Given the description of an element on the screen output the (x, y) to click on. 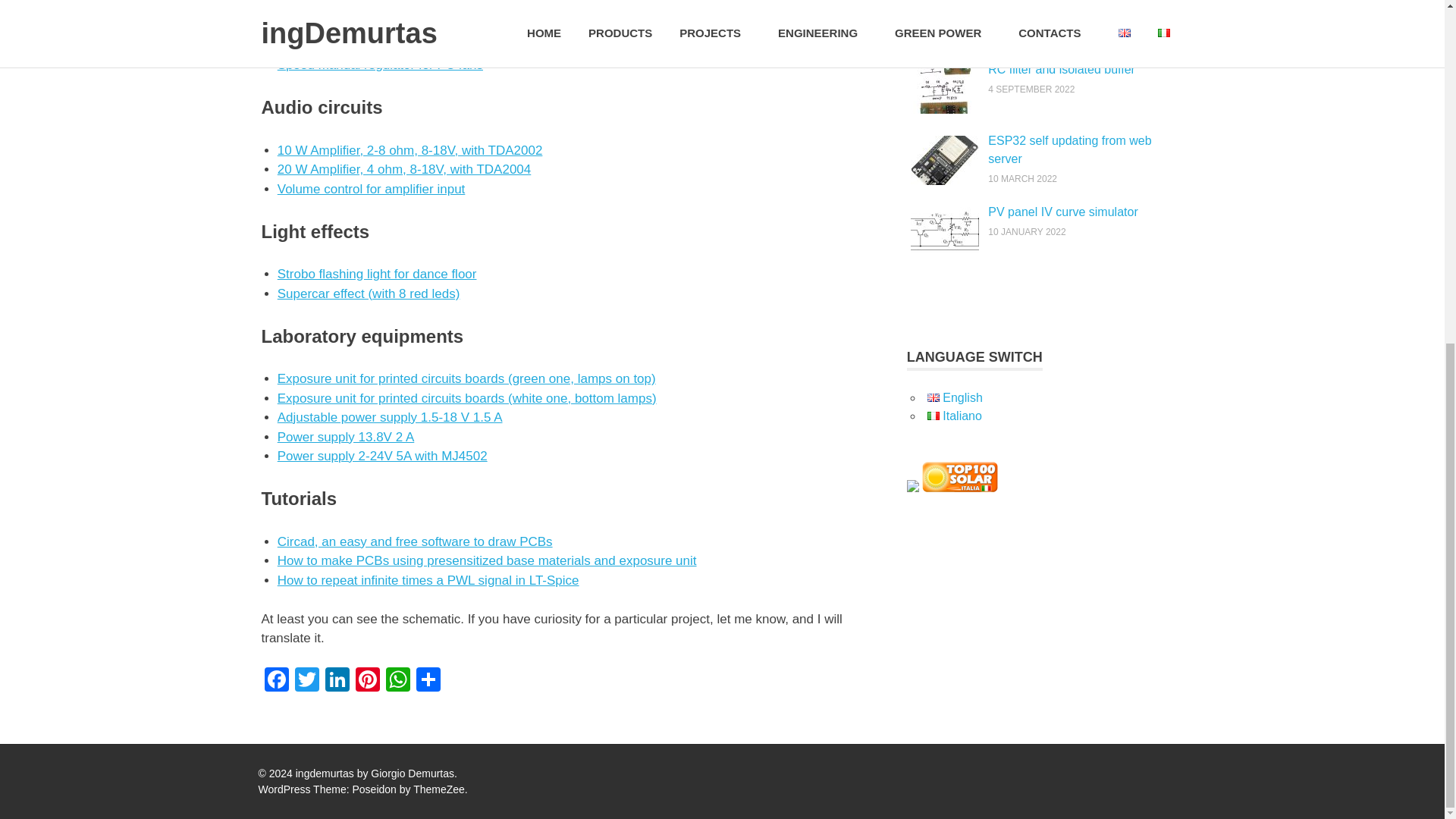
Energy value of several fuels (1065, 2)
Facebook (275, 681)
Twitter (306, 681)
LinkedIn (336, 681)
WhatsApp (396, 681)
PV panel IV curve simulator (1062, 211)
Pinterest (366, 681)
RC filter and isolated buffer (1061, 69)
ESP32 self updating from web server (1069, 149)
